Given the description of an element on the screen output the (x, y) to click on. 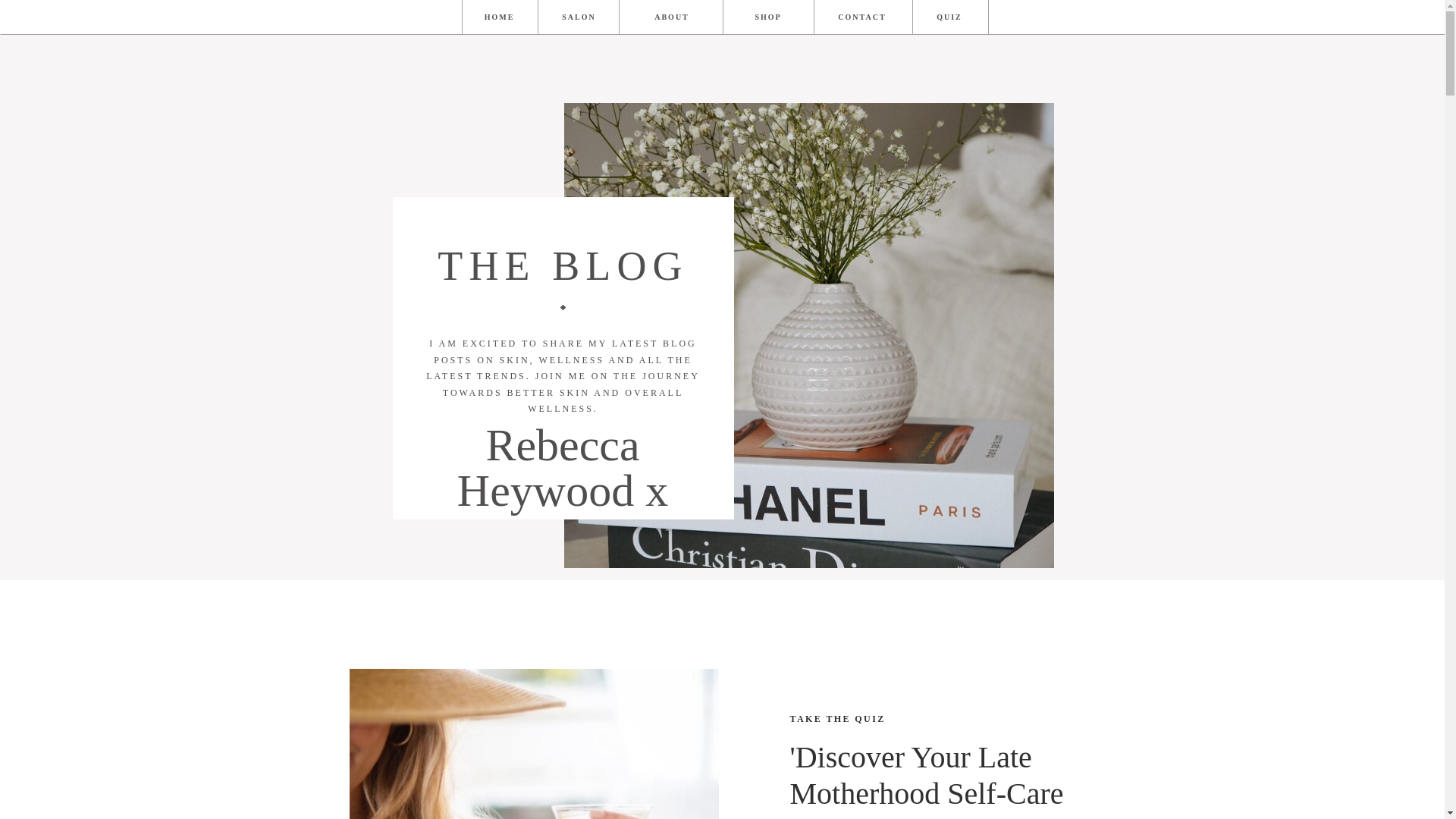
CONTACT (862, 17)
SHOP (767, 17)
HOME (499, 17)
QUIZ (948, 17)
SALON (577, 17)
